Given the description of an element on the screen output the (x, y) to click on. 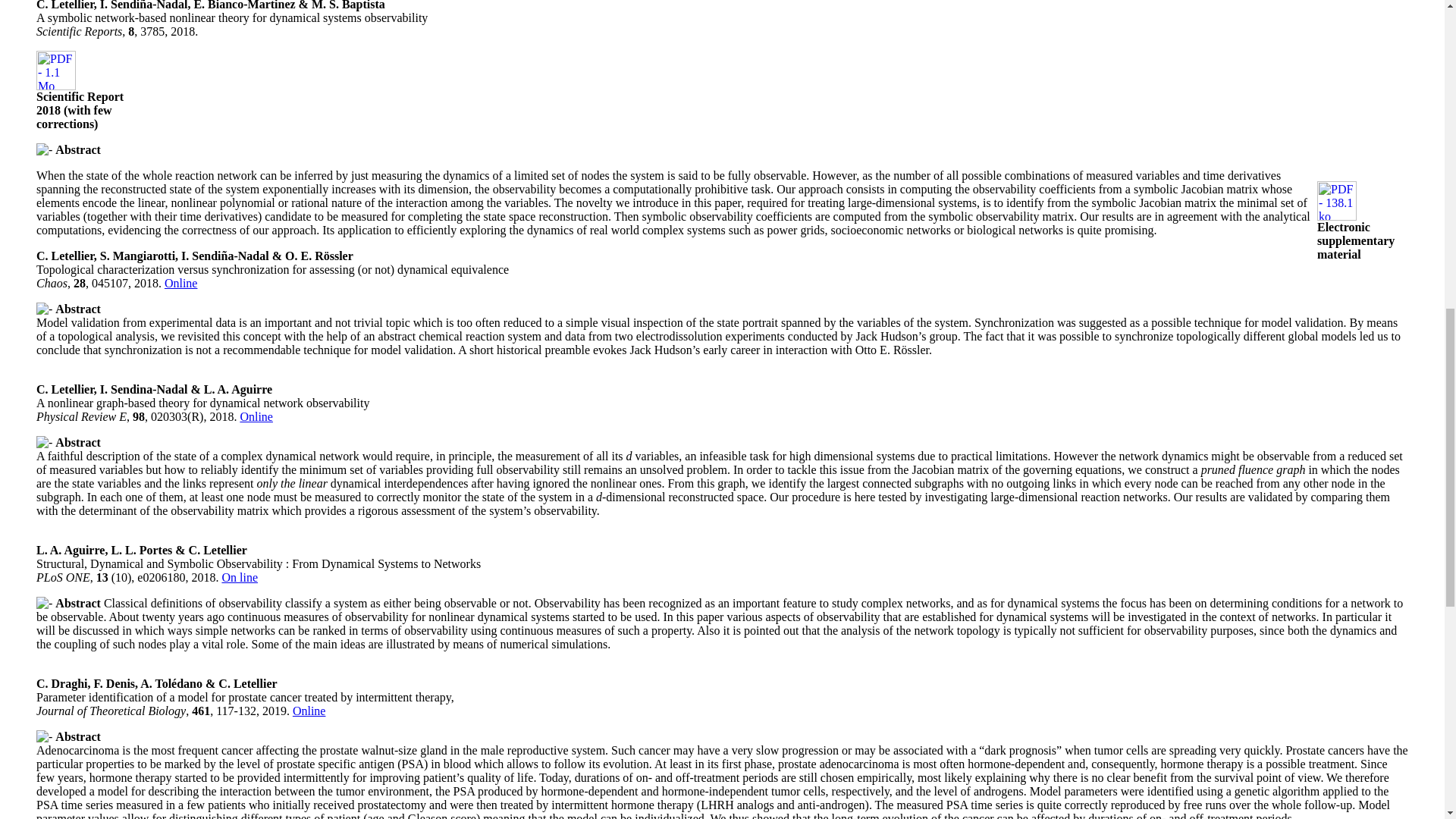
PDF - 138.1 ko (1336, 215)
PDF - 1.1 Mo (55, 85)
